Given the description of an element on the screen output the (x, y) to click on. 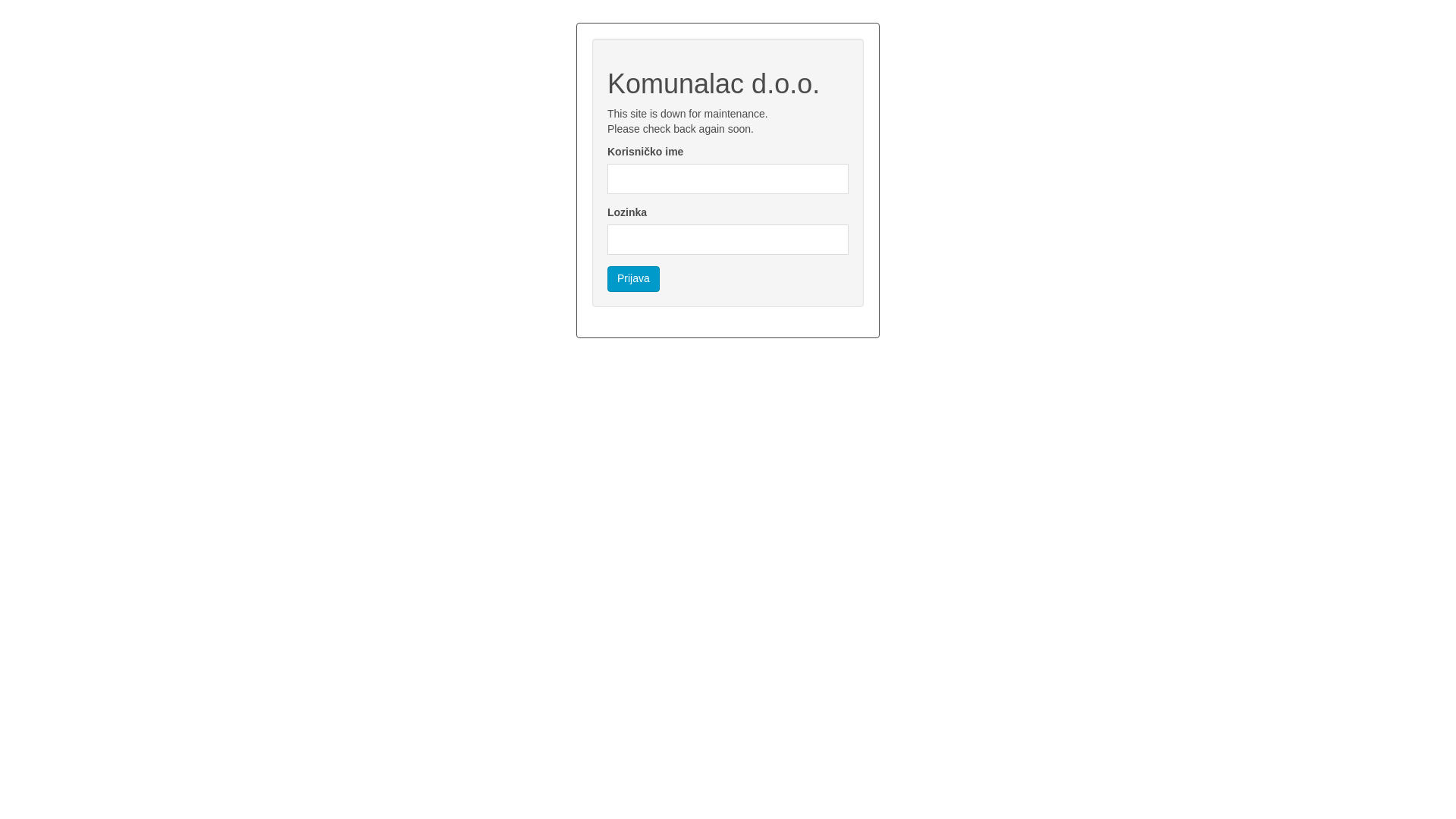
Lozinka Element type: hover (727, 239)
Prijava Element type: text (633, 278)
